Given the description of an element on the screen output the (x, y) to click on. 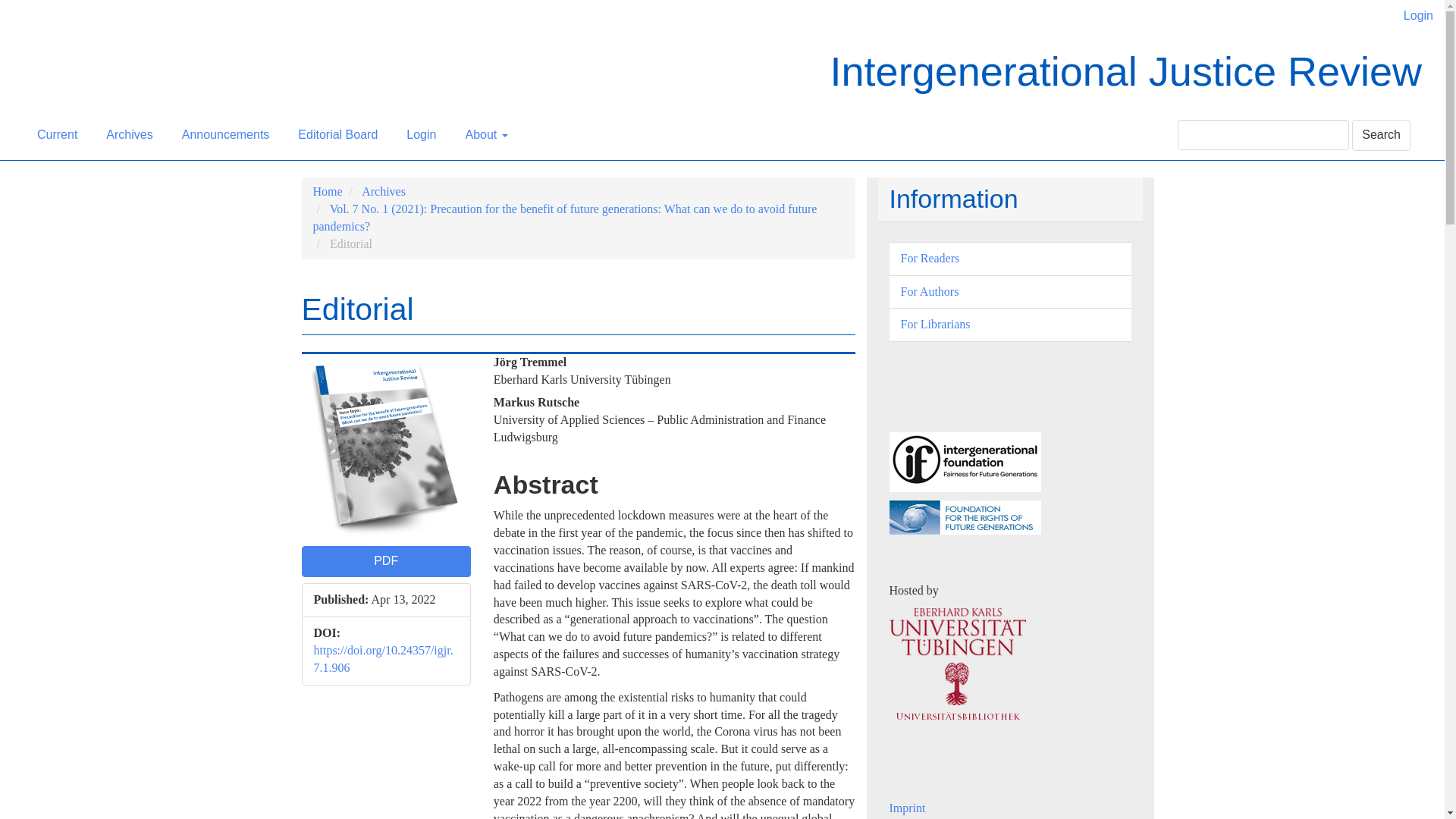
For Authors (930, 291)
Search (1381, 134)
For Librarians (936, 323)
For Readers (930, 257)
Announcements (225, 134)
External Link - Intergenerational Foundation (964, 460)
Imprint (906, 807)
Archives (383, 191)
Archives (128, 134)
About (485, 134)
Login (420, 134)
Home (327, 191)
Editorial Board (337, 134)
PDF (385, 561)
